Given the description of an element on the screen output the (x, y) to click on. 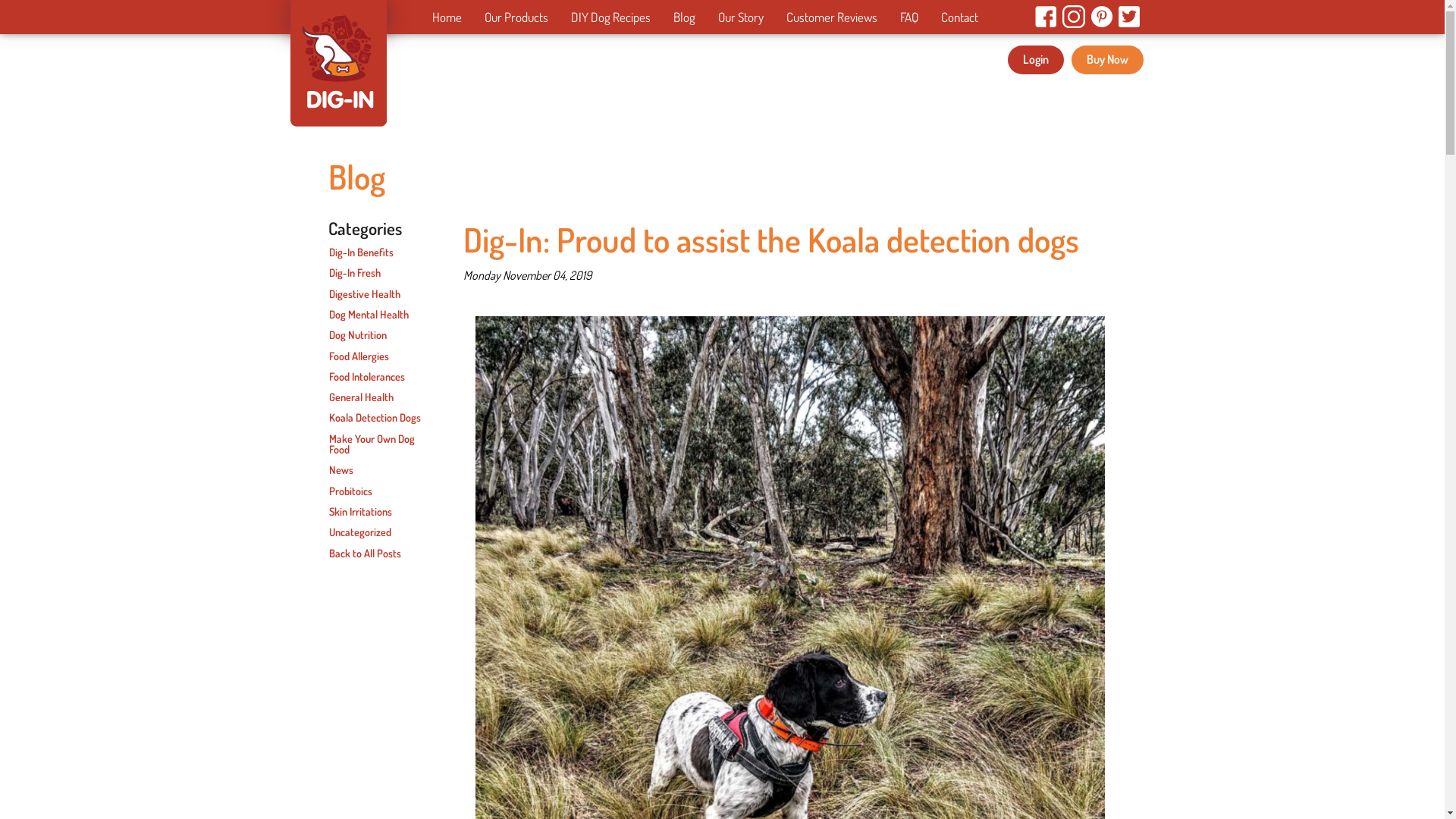
Skin Irritations Element type: text (380, 511)
Food Allergies Element type: text (380, 356)
Probitoics Element type: text (380, 491)
Digestive Health Element type: text (380, 294)
Koala Detection Dogs Element type: text (380, 417)
DIY Dog Recipes Element type: text (610, 17)
Our Story Element type: text (740, 17)
Dig-In Benefits Element type: text (380, 252)
Dig-In Fresh Element type: text (380, 272)
Make Your Own Dog Food Element type: text (380, 445)
Dog Mental Health Element type: text (380, 314)
Dog Nutrition Element type: text (380, 335)
Blog Element type: text (683, 17)
Contact Element type: text (959, 17)
News Element type: text (380, 470)
Home Element type: text (446, 17)
Customer Reviews Element type: text (831, 17)
Back to All Posts Element type: text (380, 553)
Food Intolerances Element type: text (380, 376)
Uncategorized Element type: text (380, 532)
Our Products Element type: text (516, 17)
General Health Element type: text (380, 397)
FAQ Element type: text (908, 17)
